Given the description of an element on the screen output the (x, y) to click on. 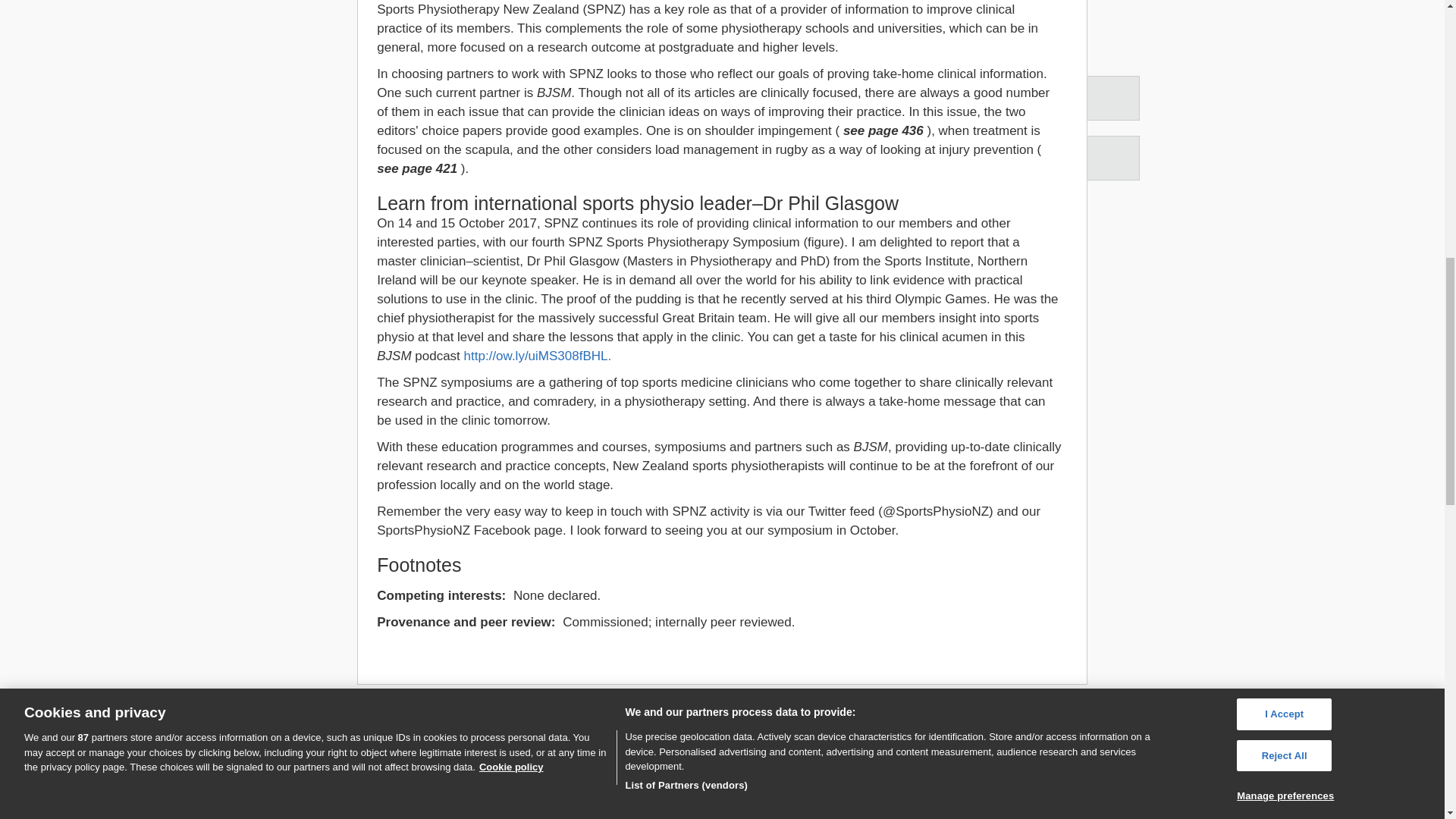
careers widget (397, 774)
